Given the description of an element on the screen output the (x, y) to click on. 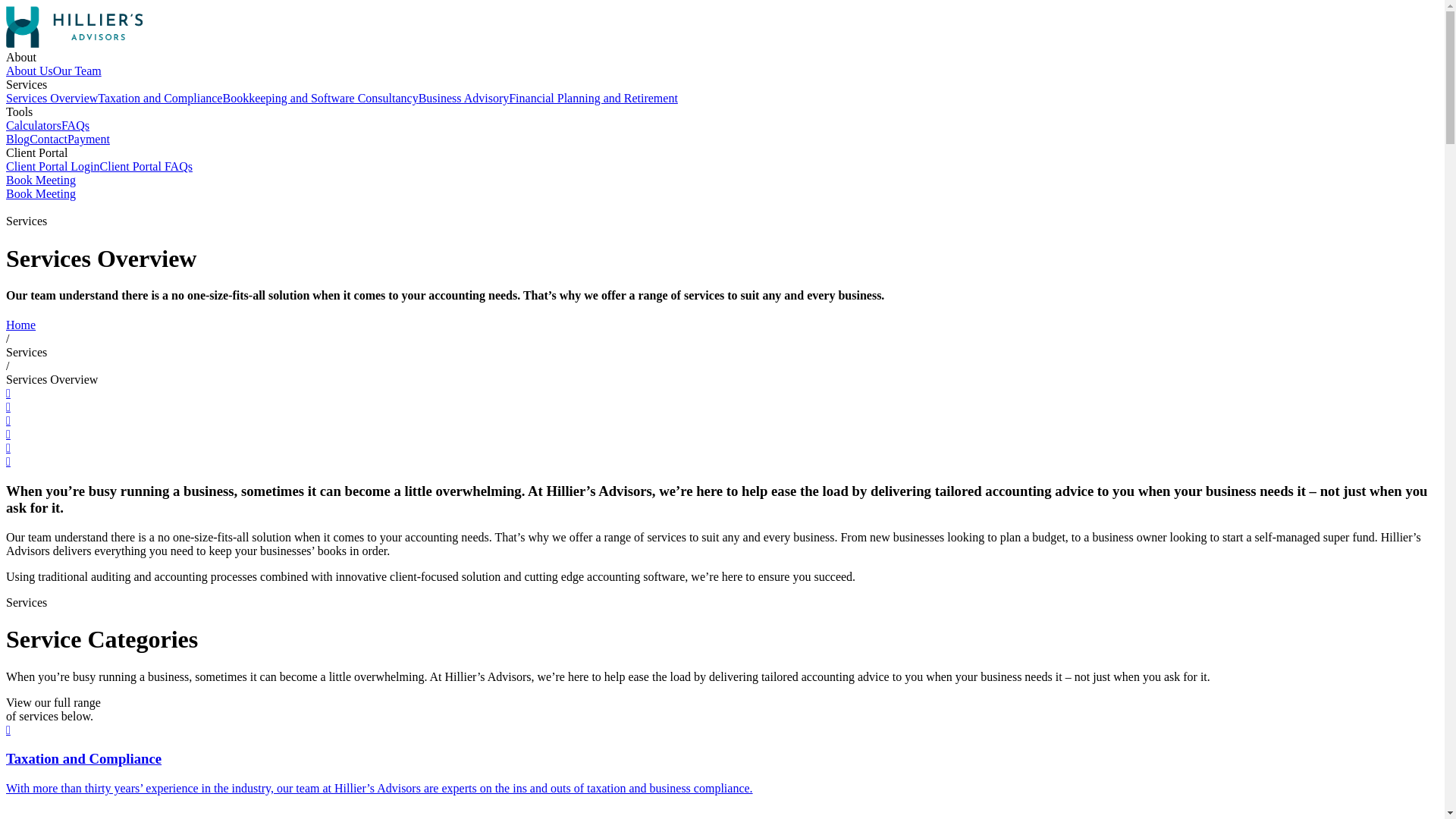
FAQs Element type: text (75, 125)
Calculators Element type: text (33, 125)
Client Portal FAQs Element type: text (146, 166)
Home Element type: text (20, 324)
Client Portal Login Element type: text (53, 166)
Bookkeeping and Software Consultancy Element type: text (319, 97)
Taxation and Compliance Element type: text (159, 97)
Payment Element type: text (88, 138)
About Us Element type: text (29, 70)
Contact Element type: text (48, 138)
Financial Planning and Retirement Element type: text (592, 97)
Blog Element type: text (17, 138)
Our Team Element type: text (77, 70)
Business Advisory Element type: text (463, 97)
Book Meeting Element type: text (40, 179)
Book Meeting Element type: text (40, 193)
Services Overview Element type: text (51, 97)
